Given the description of an element on the screen output the (x, y) to click on. 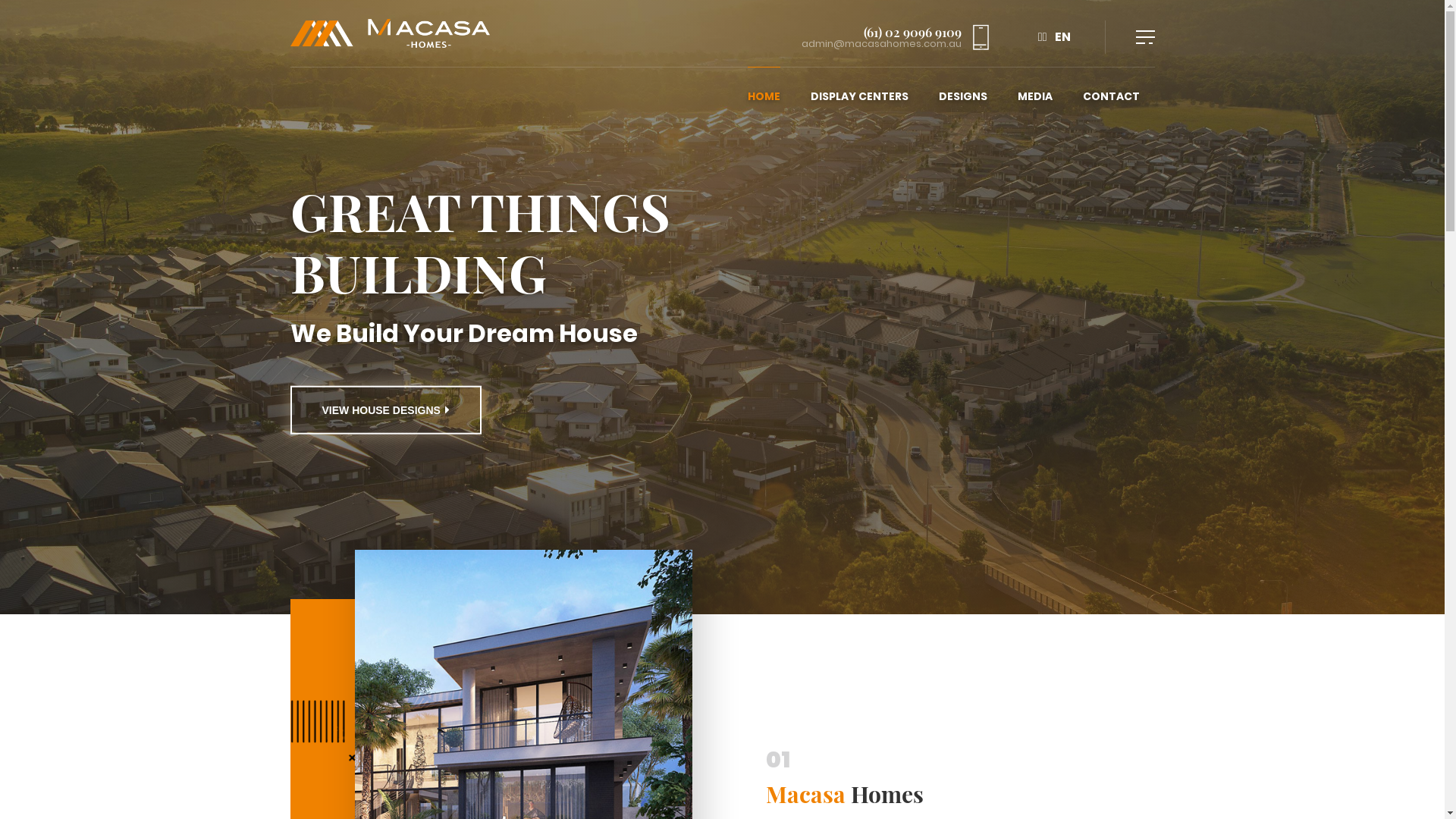
HOME Element type: text (763, 95)
DESIGNS Element type: text (962, 95)
CONTACT Element type: text (1110, 95)
EN Element type: text (1062, 36)
MEDIA Element type: text (1034, 95)
VIEW HOUSE DESIGNS Element type: text (384, 409)
DISPLAY CENTERS Element type: text (858, 95)
